Given the description of an element on the screen output the (x, y) to click on. 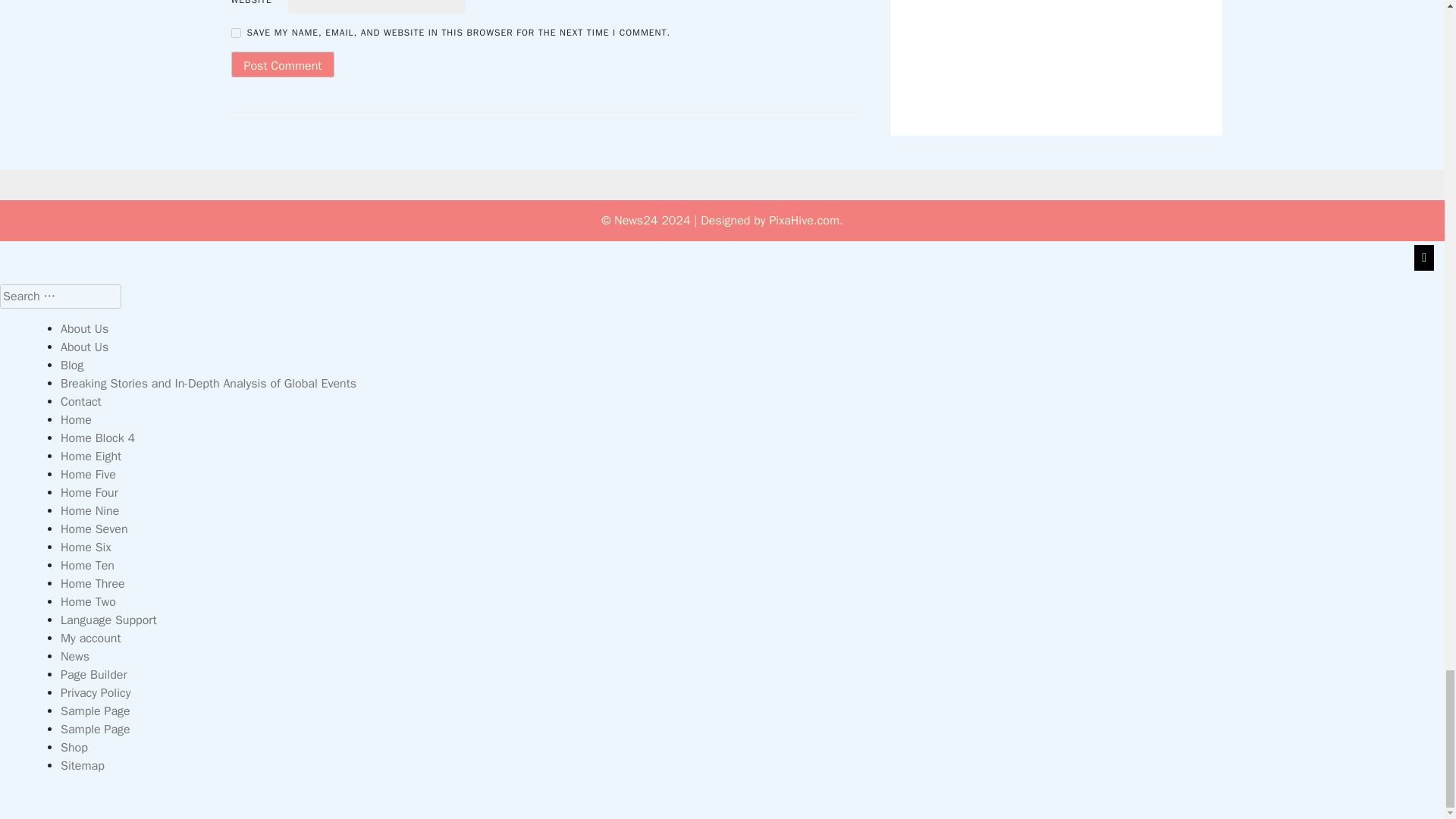
Blog (71, 365)
About Us (84, 328)
Post Comment (282, 63)
Breaking Stories and In-Depth Analysis of Global Events (208, 383)
PixaHive.com (804, 220)
Post Comment (282, 63)
yes (235, 32)
About Us (84, 346)
